Given the description of an element on the screen output the (x, y) to click on. 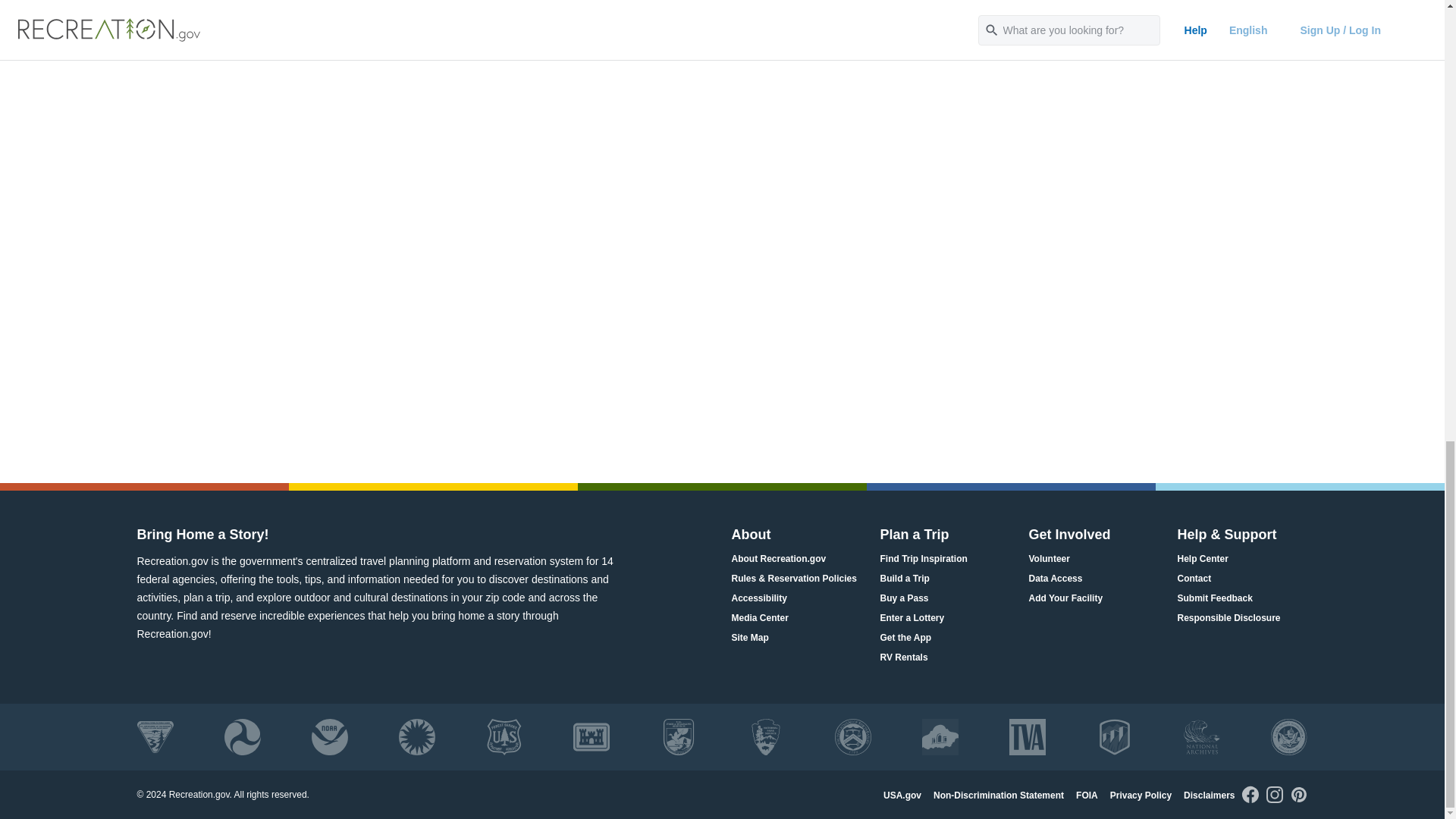
Enter a Lottery (911, 618)
Data Access (1054, 578)
Help Center (1201, 559)
Buy a Pass (903, 598)
Add Your Facility (1064, 598)
Build a Trip (903, 578)
Media Center (758, 618)
Get the App (905, 637)
Contact (1193, 578)
Site Map (749, 637)
RV Rentals (903, 657)
About Recreation.gov (777, 559)
Responsible Disclosure (1227, 618)
Find Trip Inspiration (922, 559)
Accessibility (758, 598)
